Given the description of an element on the screen output the (x, y) to click on. 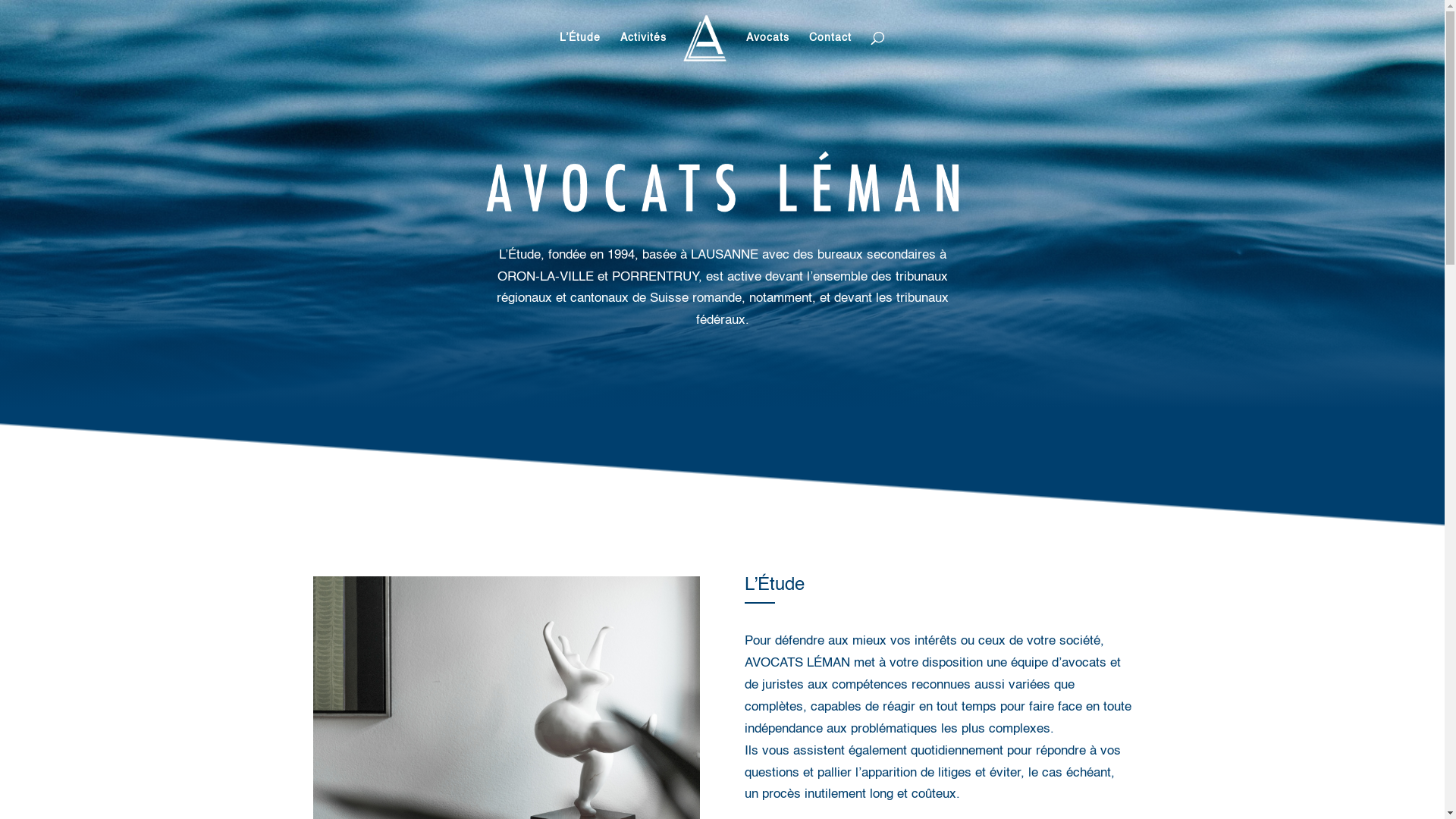
Avocats Element type: text (767, 52)
Contact Element type: text (830, 52)
